Given the description of an element on the screen output the (x, y) to click on. 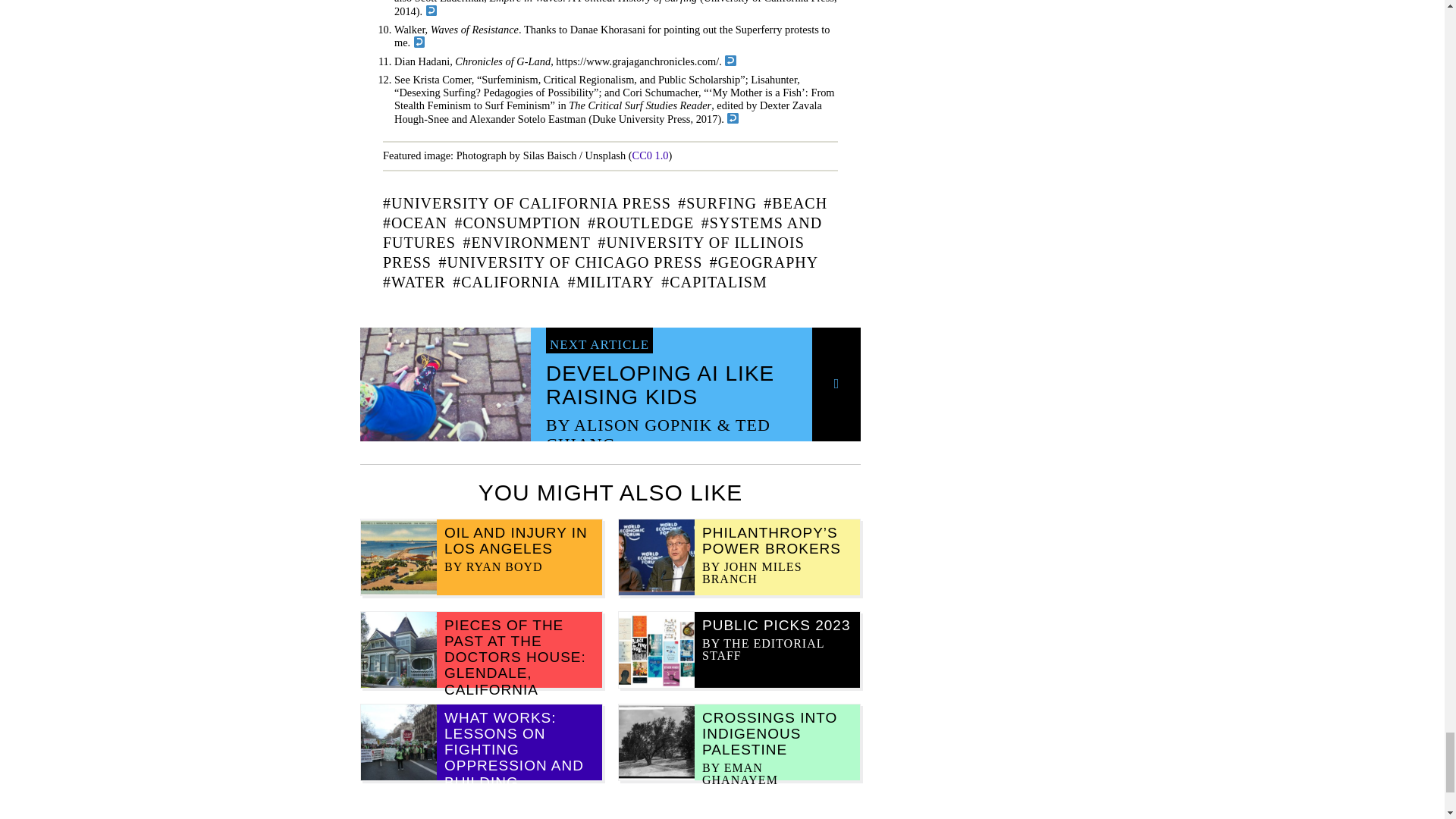
Public Picks 2023 (775, 625)
Oil and Injury in Los Angeles (516, 540)
Crossings into Indigenous Palestine (769, 734)
